Given the description of an element on the screen output the (x, y) to click on. 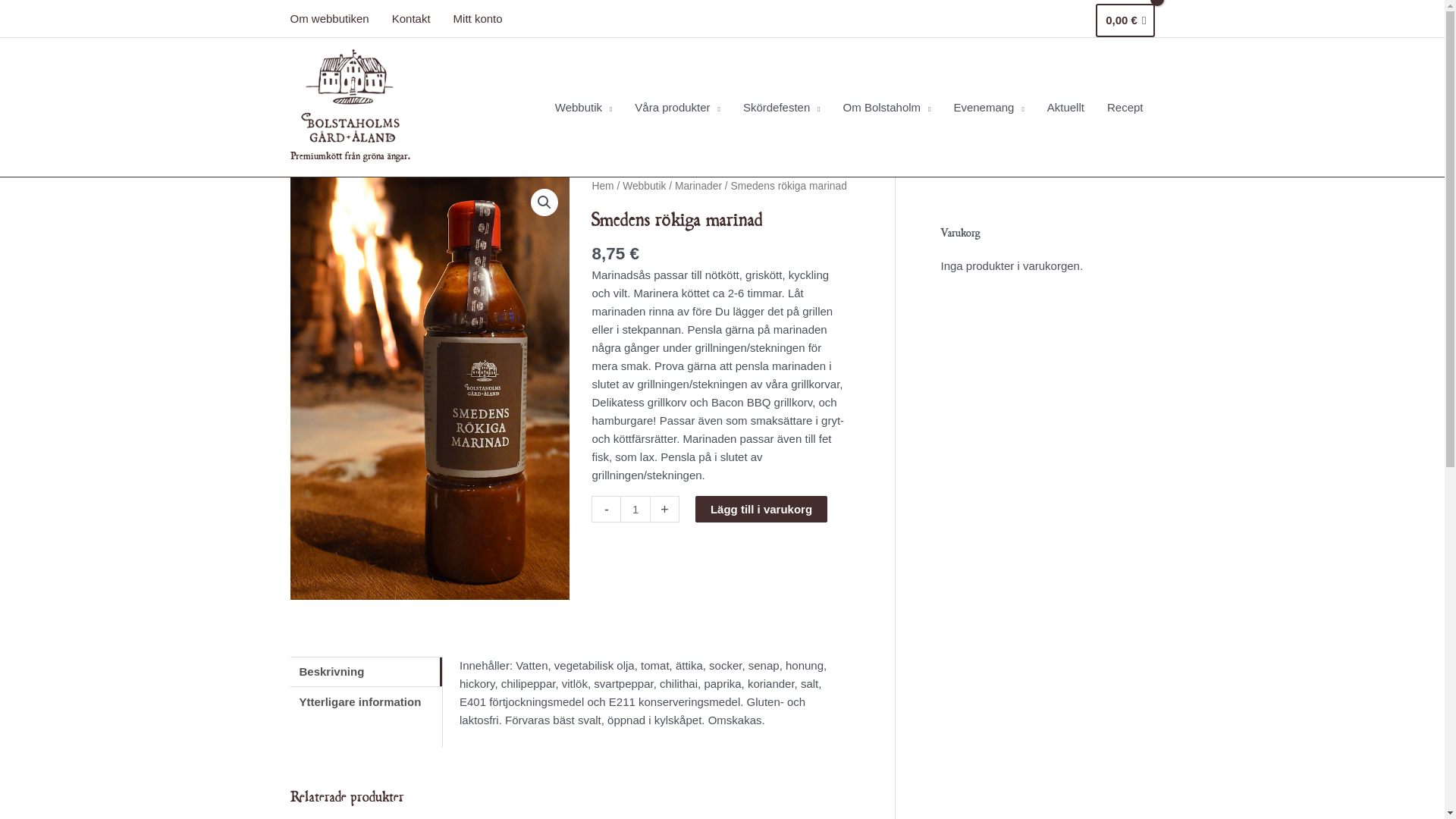
Om webbutiken Element type: text (334, 18)
Recept Element type: text (1124, 107)
+ Element type: text (664, 508)
Evenemang Element type: text (988, 107)
smedens-900x595.jpg Element type: hover (429, 388)
Kontakt Element type: text (411, 18)
Hem Element type: text (602, 185)
Antal Element type: hover (634, 508)
Aktuellt Element type: text (1065, 107)
Beskrivning Element type: text (365, 671)
Webbutik Element type: text (583, 107)
Om Bolstaholm Element type: text (886, 107)
Webbutik Element type: text (643, 185)
- Element type: text (605, 508)
Marinader Element type: text (697, 185)
Ytterligare information Element type: text (365, 701)
Mitt konto Element type: text (478, 18)
